Given the description of an element on the screen output the (x, y) to click on. 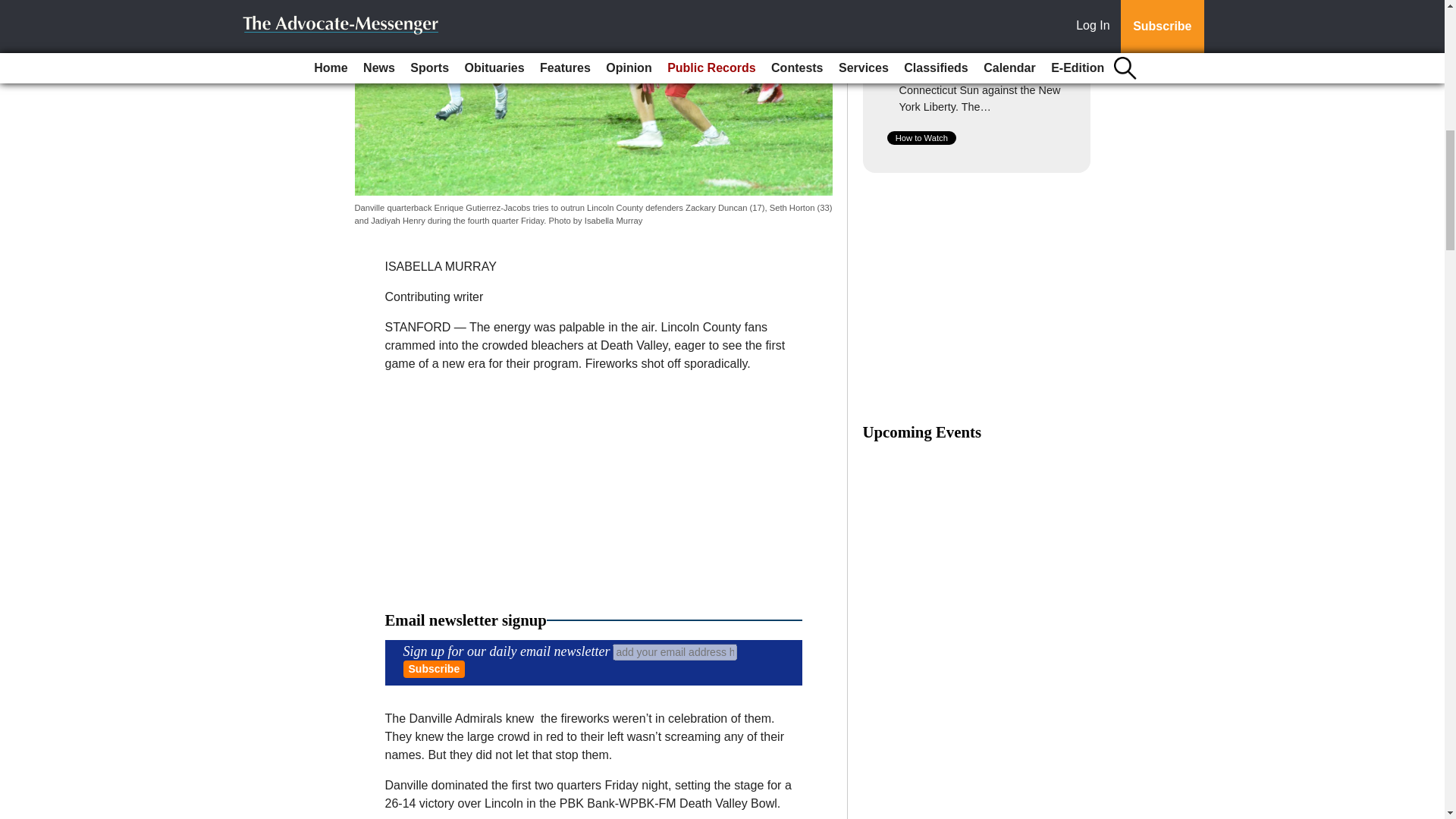
Subscribe (434, 669)
Subscribe (434, 669)
